Given the description of an element on the screen output the (x, y) to click on. 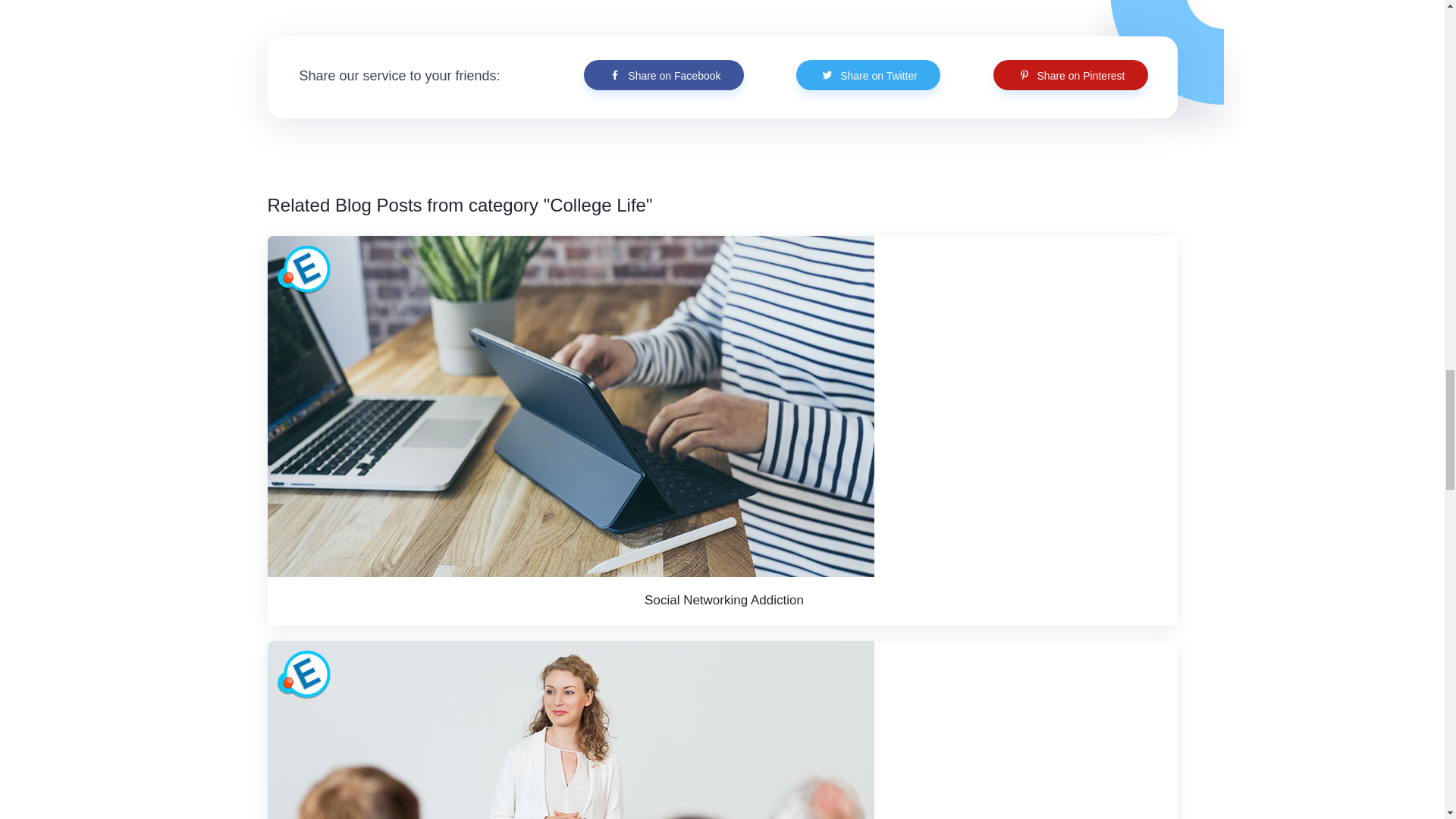
Share on Twitter (868, 74)
Share on Facebook (662, 74)
Share on Pinterest (1070, 74)
How to Survive When Preparing Public Speaking (569, 729)
Social Networking Addiction (724, 599)
